Given the description of an element on the screen output the (x, y) to click on. 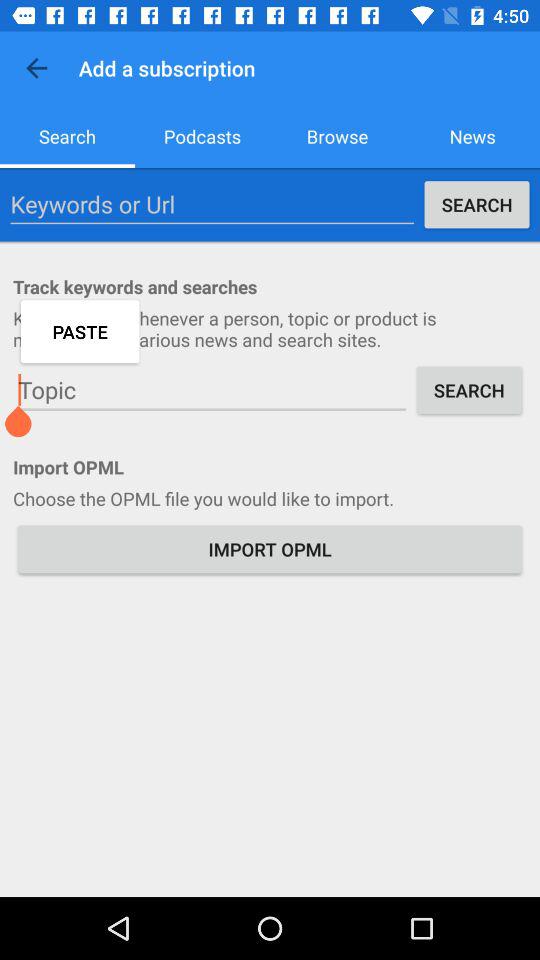
turn off icon to the left of the browse item (202, 136)
